Given the description of an element on the screen output the (x, y) to click on. 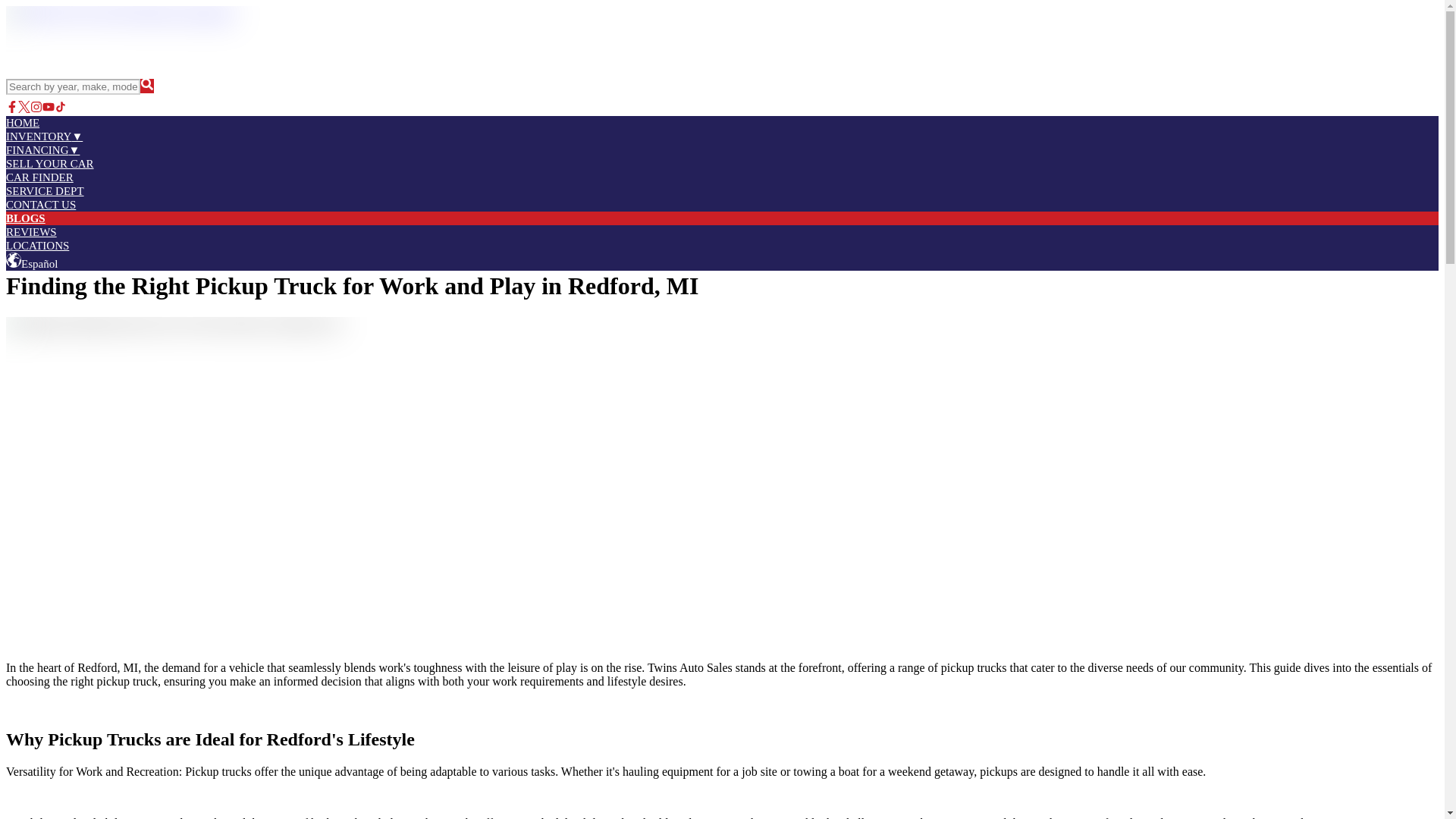
SELL YOUR CAR (49, 163)
CONTACT US (40, 204)
SERVICE DEPT (44, 191)
LOCATIONS (36, 245)
HOME (22, 122)
REVIEWS (30, 232)
BLOGS (25, 218)
CAR FINDER (39, 177)
